Given the description of an element on the screen output the (x, y) to click on. 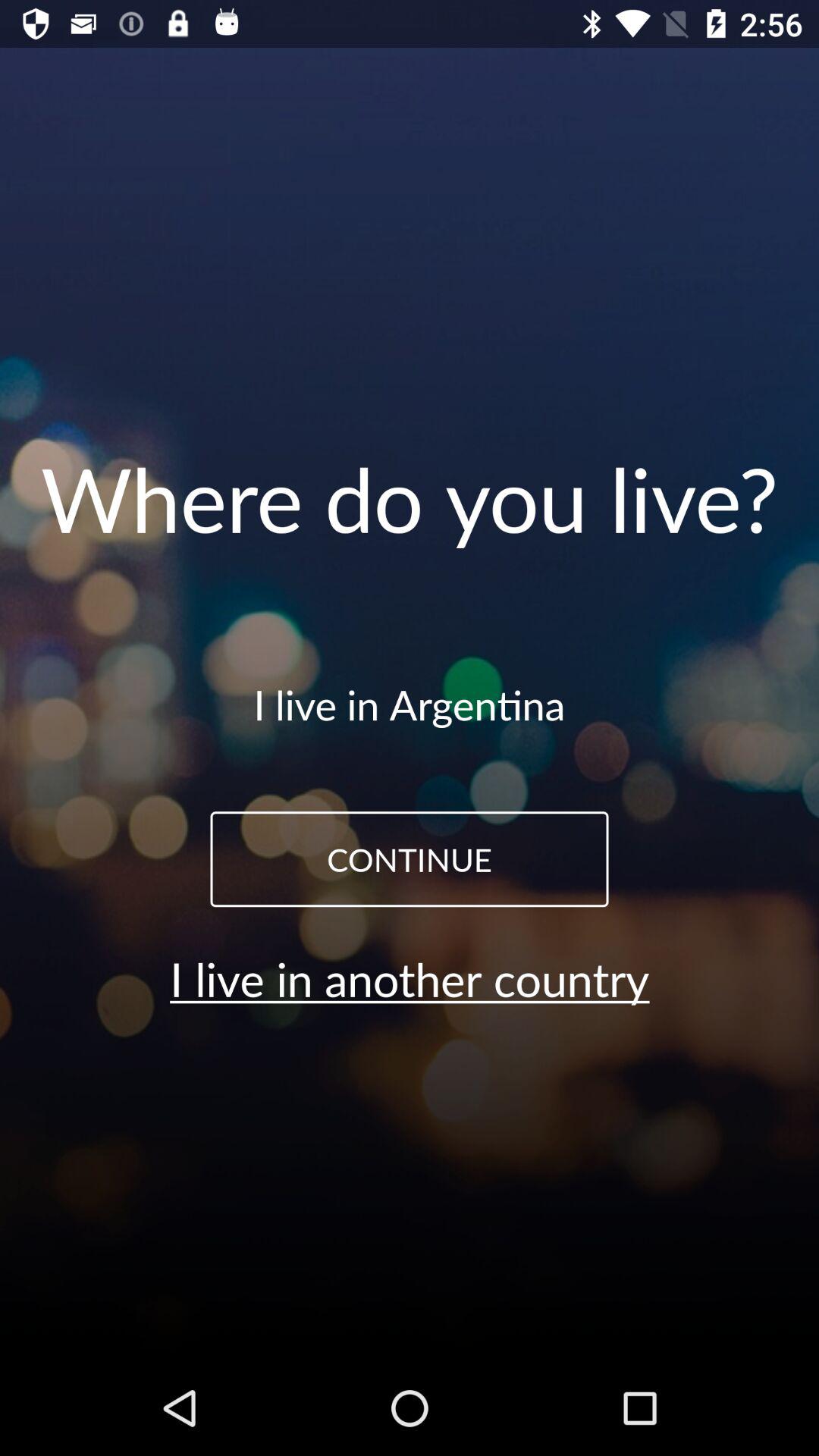
scroll until continue (409, 859)
